Given the description of an element on the screen output the (x, y) to click on. 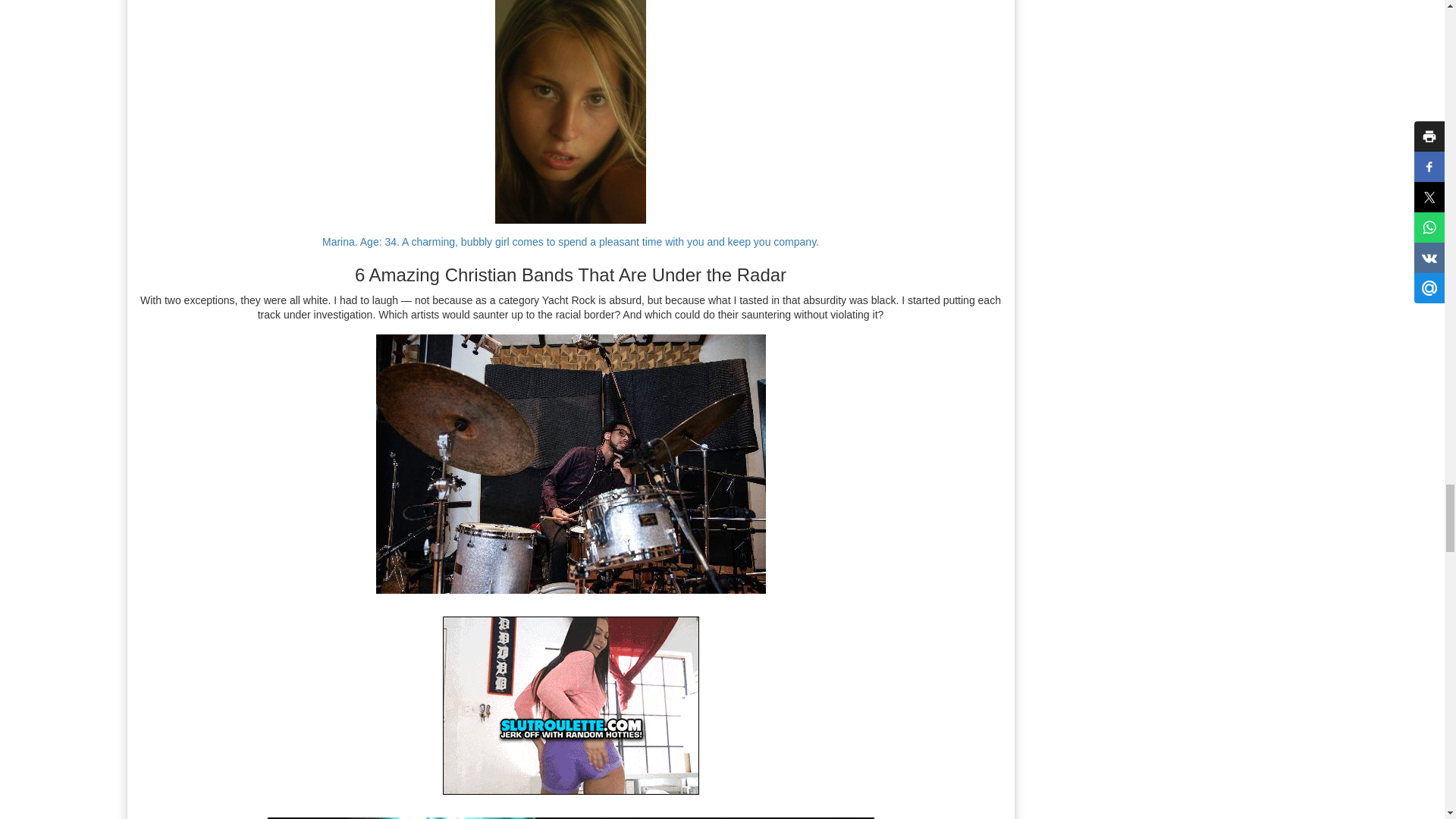
White dick in black (570, 463)
